Given the description of an element on the screen output the (x, y) to click on. 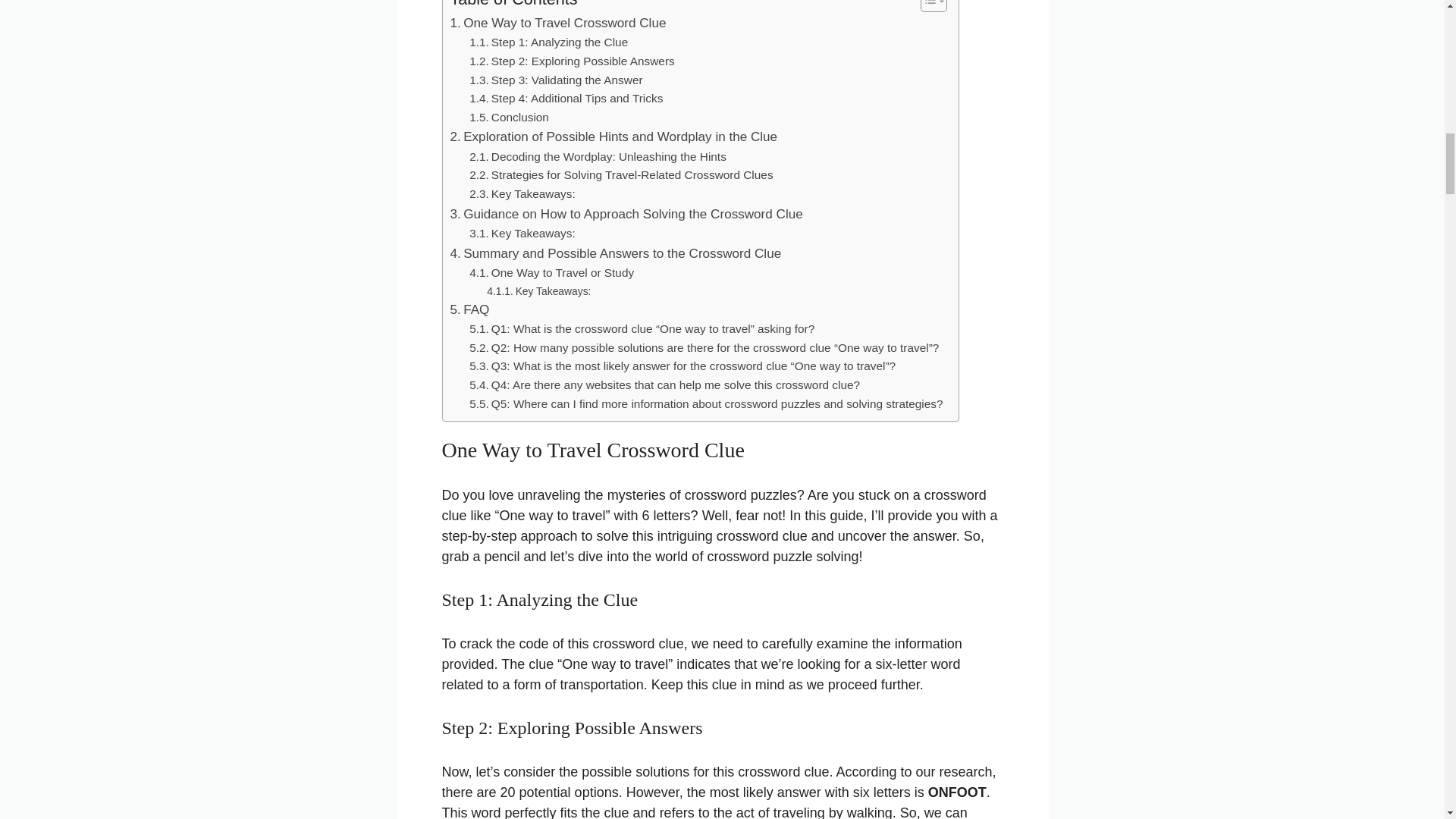
One Way to Travel Crossword Clue (557, 23)
Step 1: Analyzing the Clue (547, 42)
Step 2: Exploring Possible Answers (571, 61)
Conclusion (508, 117)
Decoding the Wordplay: Unleashing the Hints (597, 157)
Exploration of Possible Hints and Wordplay in the Clue (613, 136)
Step 3: Validating the Answer (555, 80)
Exploration of Possible Hints and Wordplay in the Clue (613, 136)
Guidance on How to Approach Solving the Crossword Clue (626, 213)
Key Takeaways: (521, 194)
